Given the description of an element on the screen output the (x, y) to click on. 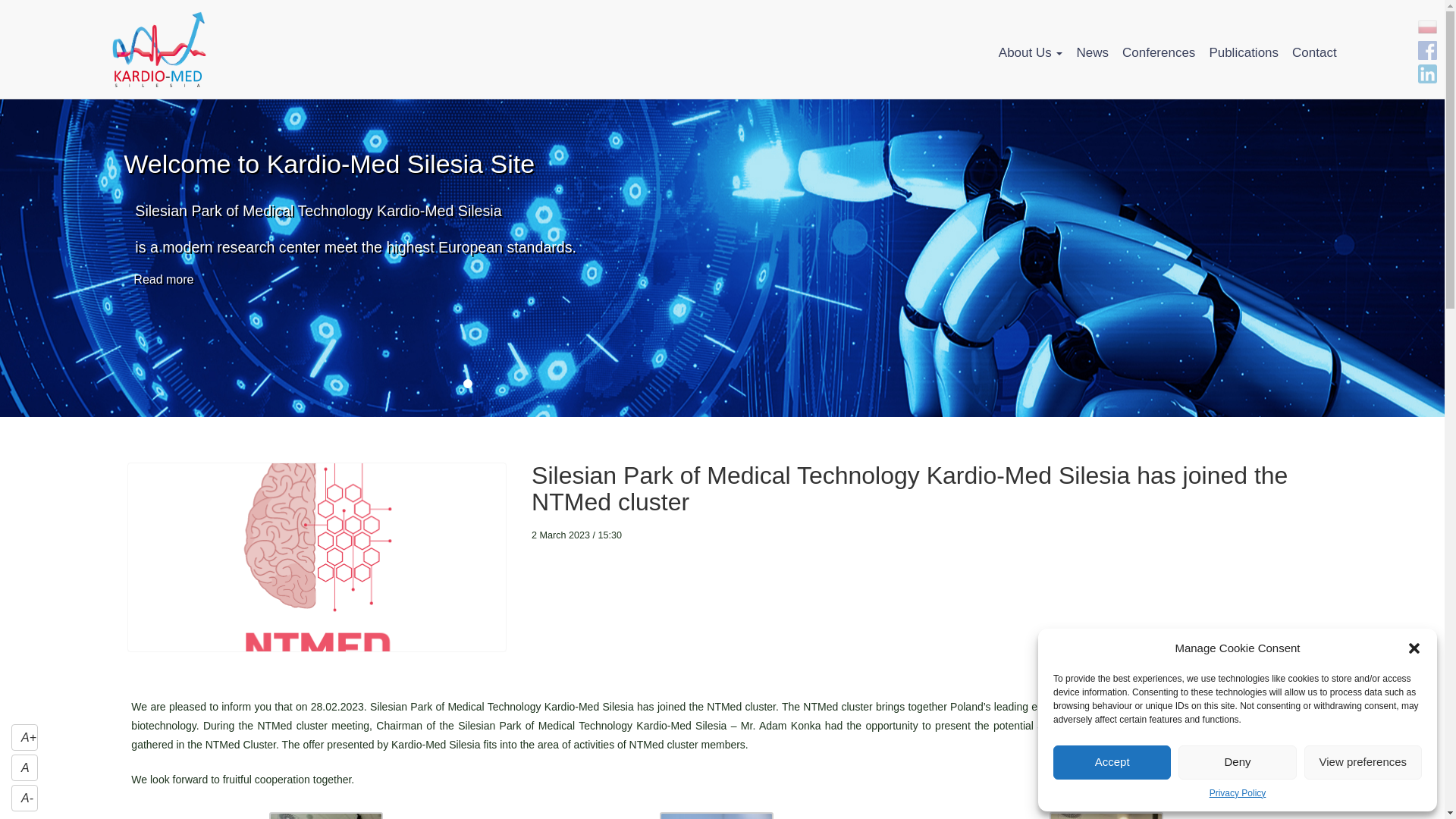
View preferences (1363, 762)
Conferences (1158, 52)
Publications (1243, 52)
Privacy Policy (1237, 793)
Contact (1313, 52)
Read more (163, 280)
About Us (1030, 52)
Deny (1236, 762)
Conferences (1158, 52)
News (1092, 52)
Publications (1243, 52)
News (1092, 52)
Accept (1111, 762)
About Us (1030, 52)
Contact (1313, 52)
